Given the description of an element on the screen output the (x, y) to click on. 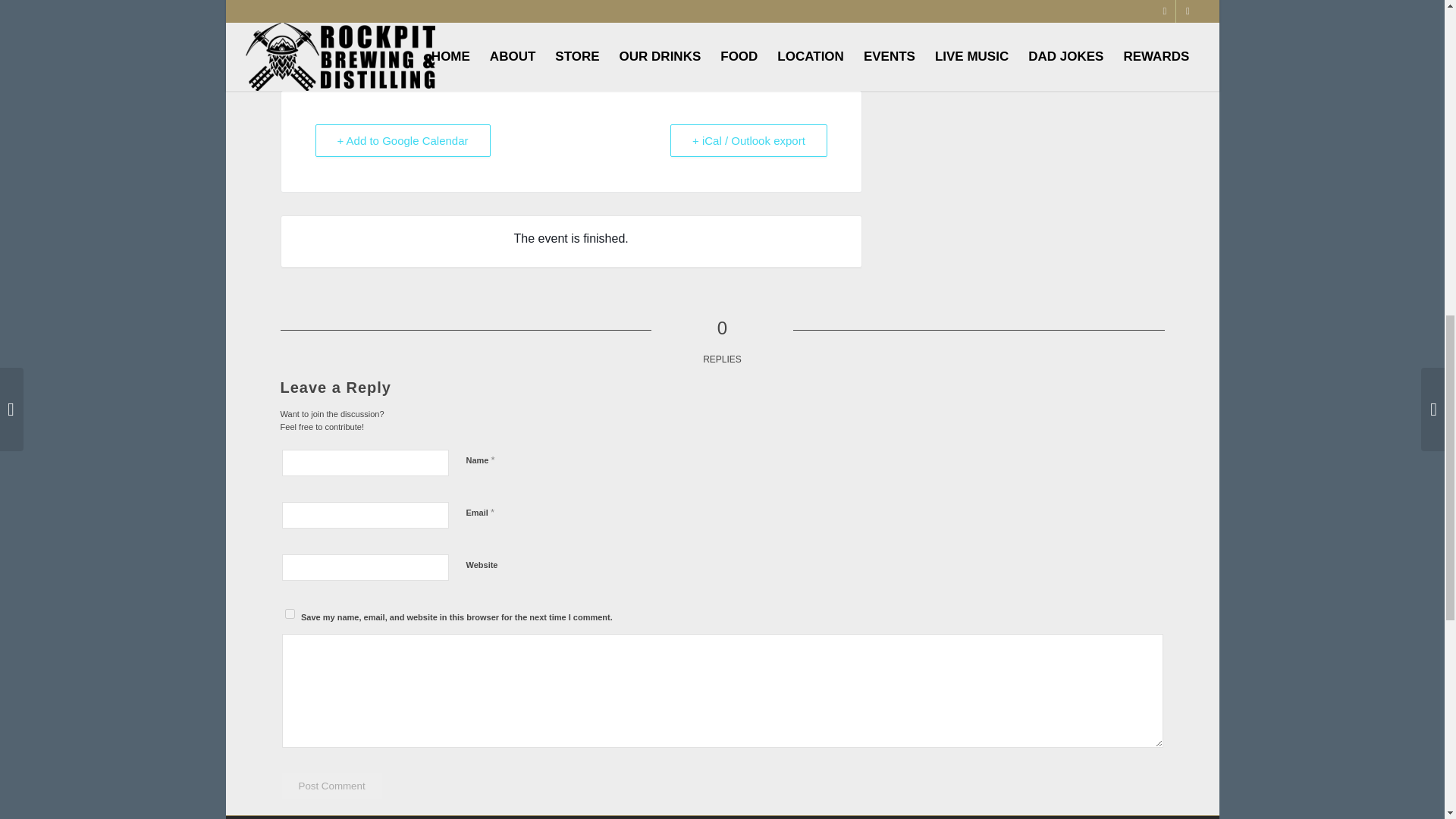
Post Comment (331, 785)
yes (290, 614)
Post Comment (331, 785)
Get My VIP Offers (571, 18)
